Given the description of an element on the screen output the (x, y) to click on. 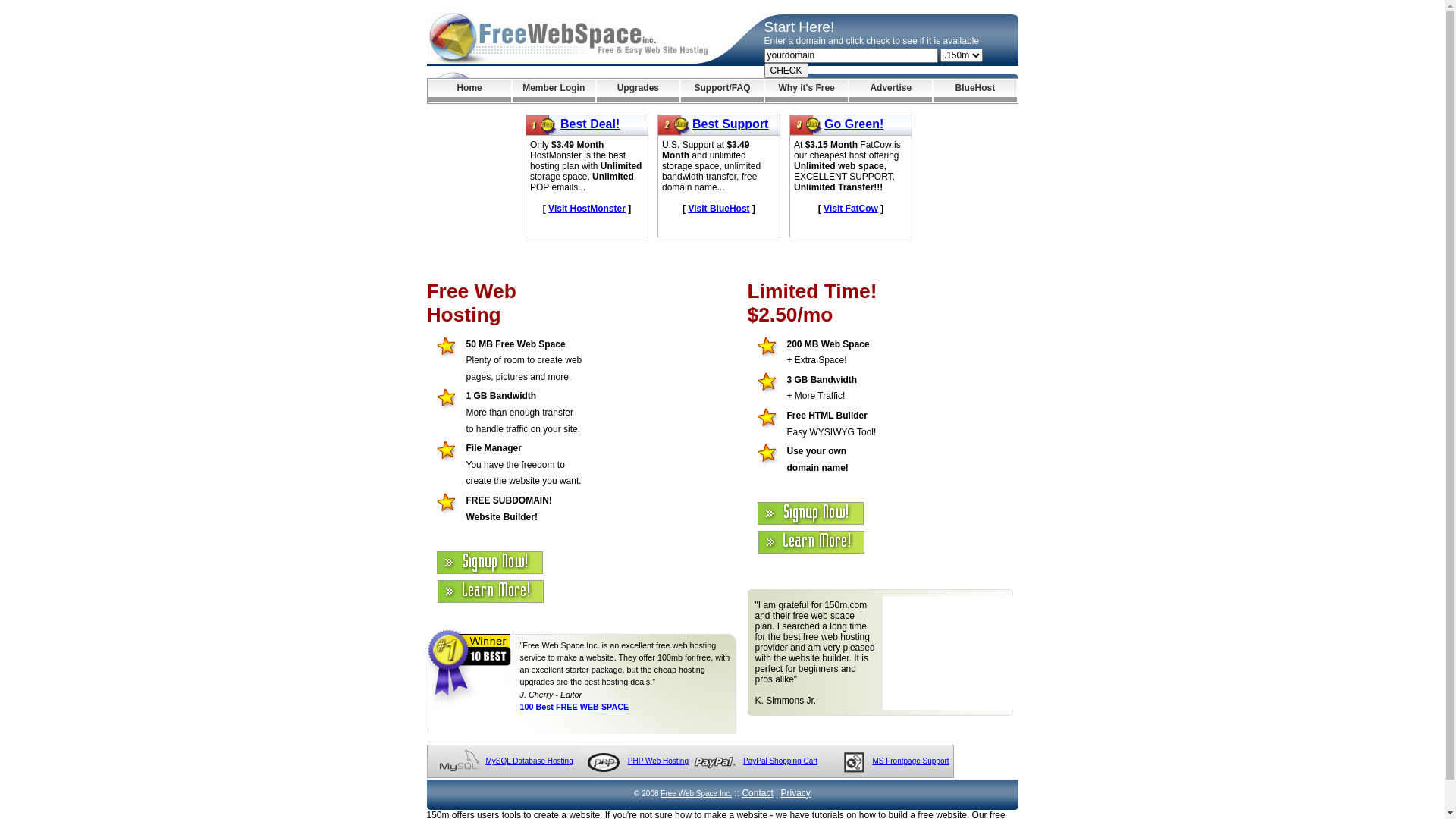
Privacy Element type: text (795, 792)
Free Web Space Inc. Element type: text (695, 793)
Contact Element type: text (756, 792)
Support/FAQ Element type: text (721, 90)
BlueHost Element type: text (974, 90)
Why it's Free Element type: text (806, 90)
MS Frontpage Support Element type: text (910, 760)
Advertise Element type: text (890, 90)
CHECK Element type: text (786, 70)
MySQL Database Hosting Element type: text (528, 760)
PayPal Shopping Cart Element type: text (780, 760)
Upgrades Element type: text (637, 90)
PHP Web Hosting Element type: text (657, 760)
Member Login Element type: text (553, 90)
100 Best FREE WEB SPACE Element type: text (574, 706)
Home Element type: text (468, 90)
